Given the description of an element on the screen output the (x, y) to click on. 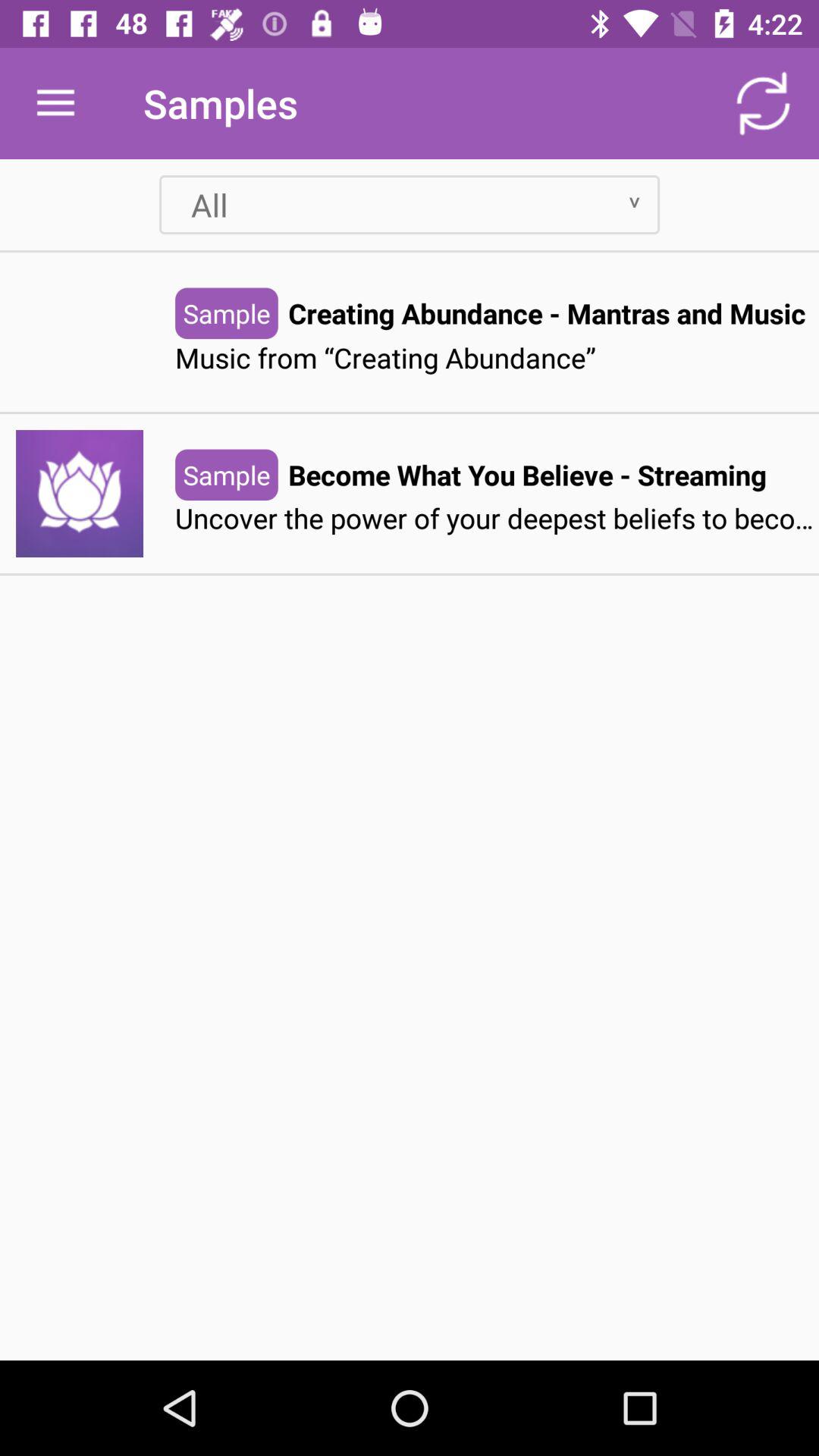
press the icon below the sample (497, 519)
